Given the description of an element on the screen output the (x, y) to click on. 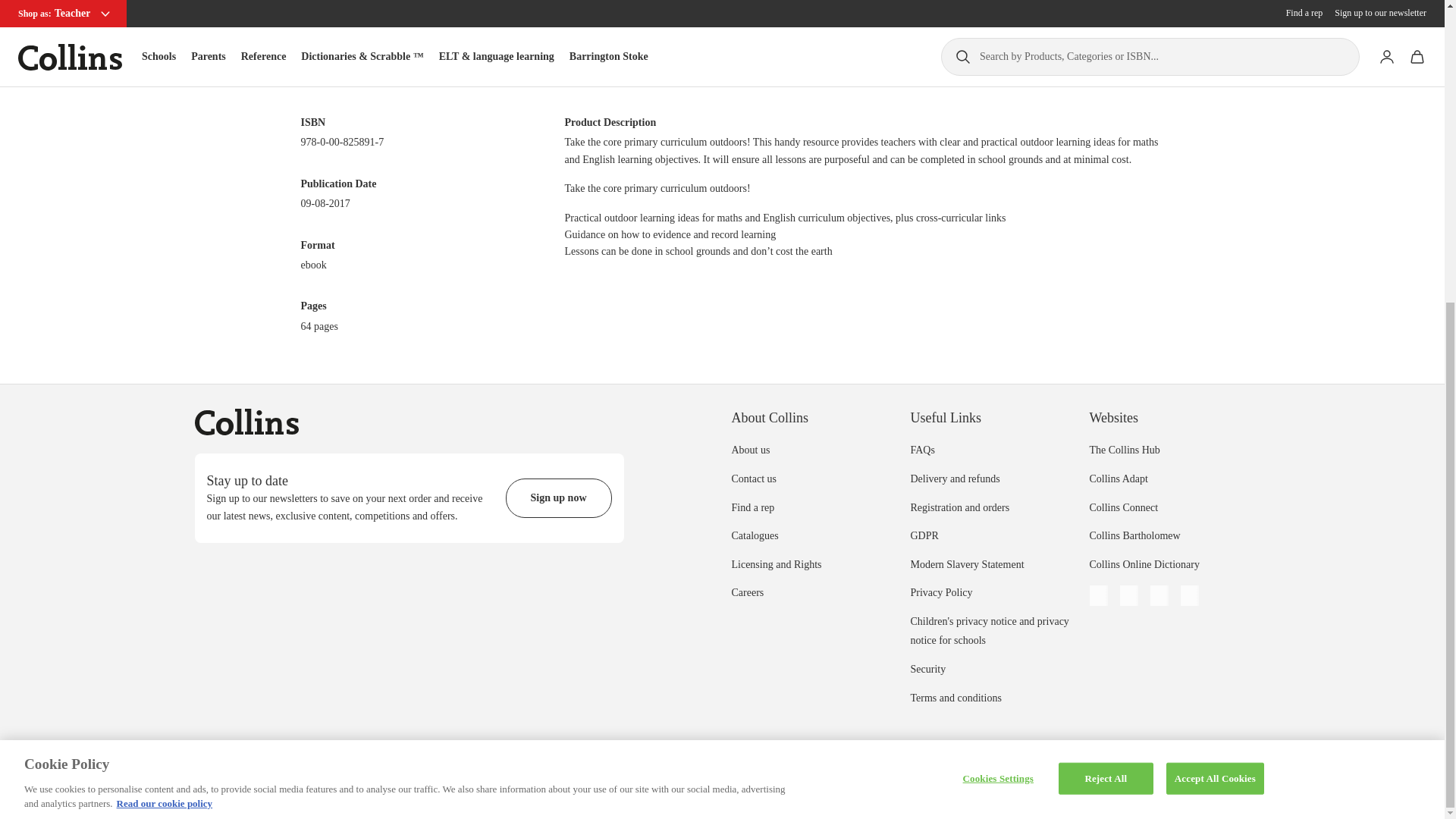
Sign up now (558, 497)
Find a rep (752, 507)
Catalogues (753, 535)
Contact us (753, 478)
About us (750, 449)
